Given the description of an element on the screen output the (x, y) to click on. 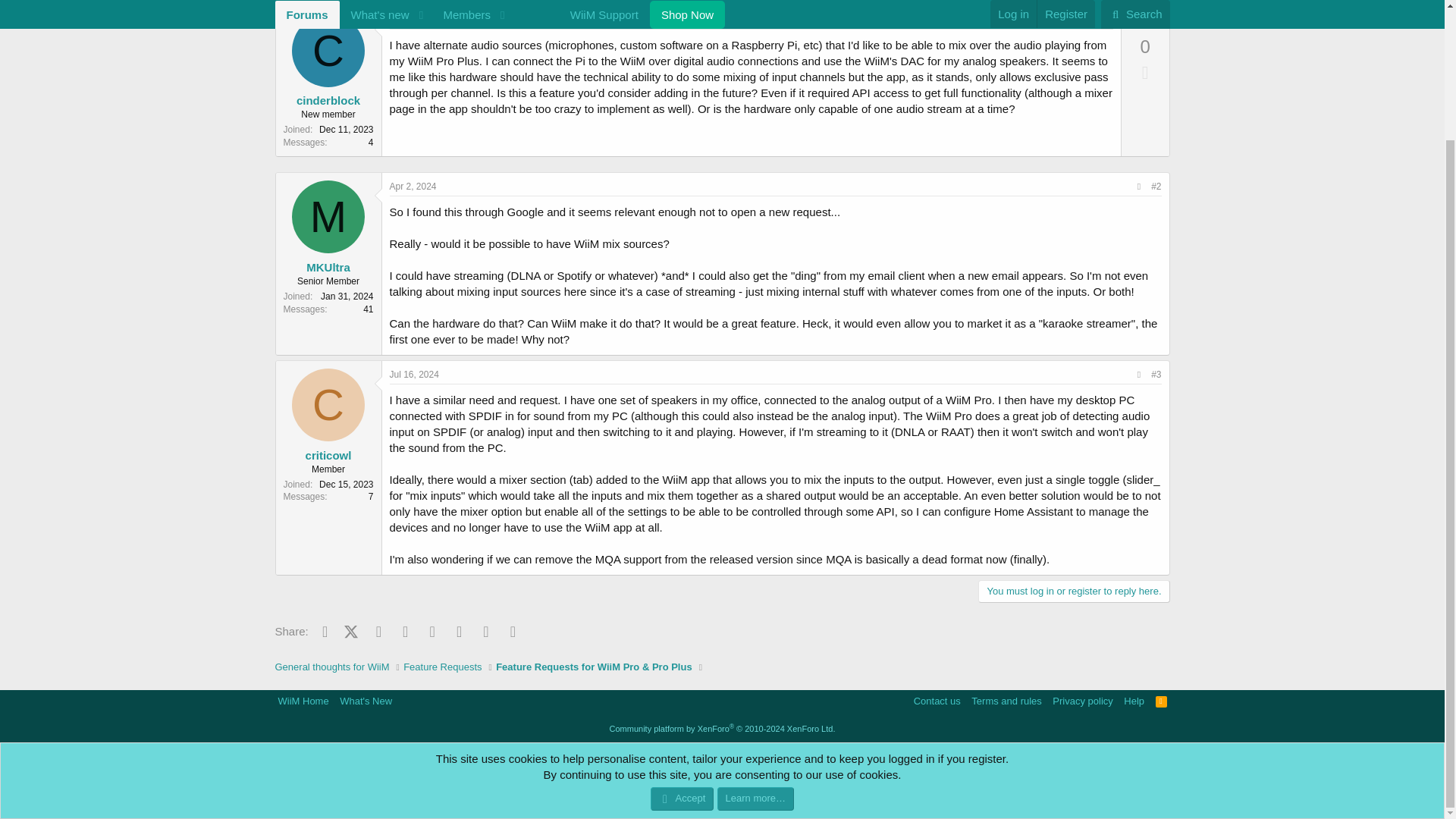
cinderblock (328, 100)
RSS (1161, 700)
Dec 11, 2023 (417, 20)
Apr 2, 2024 at 9:09 AM (413, 185)
Jul 16, 2024 at 4:17 PM (414, 374)
Dec 11, 2023 at 1:05 PM (417, 20)
C (328, 50)
